Given the description of an element on the screen output the (x, y) to click on. 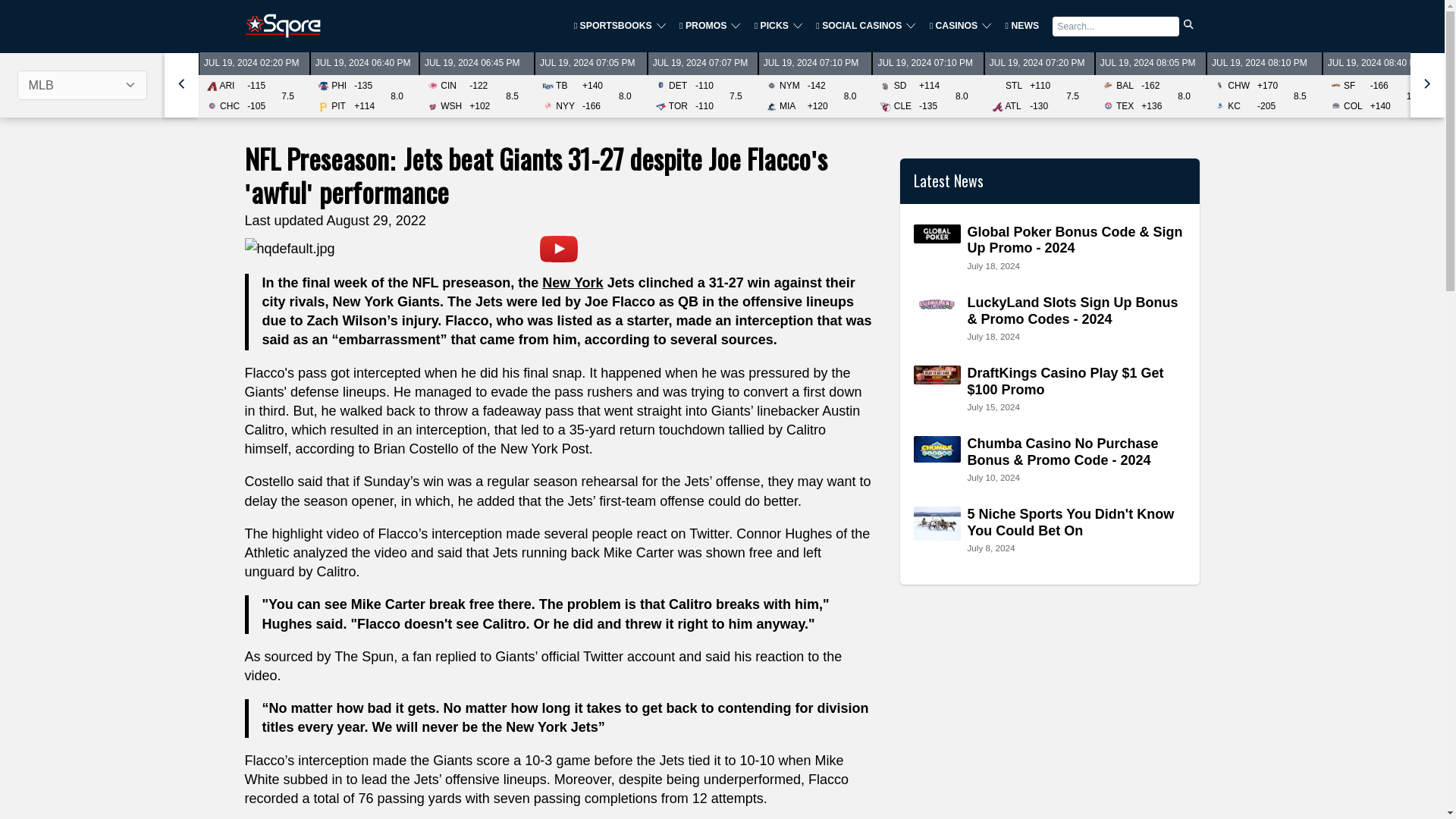
Go to main page (282, 25)
